Given the description of an element on the screen output the (x, y) to click on. 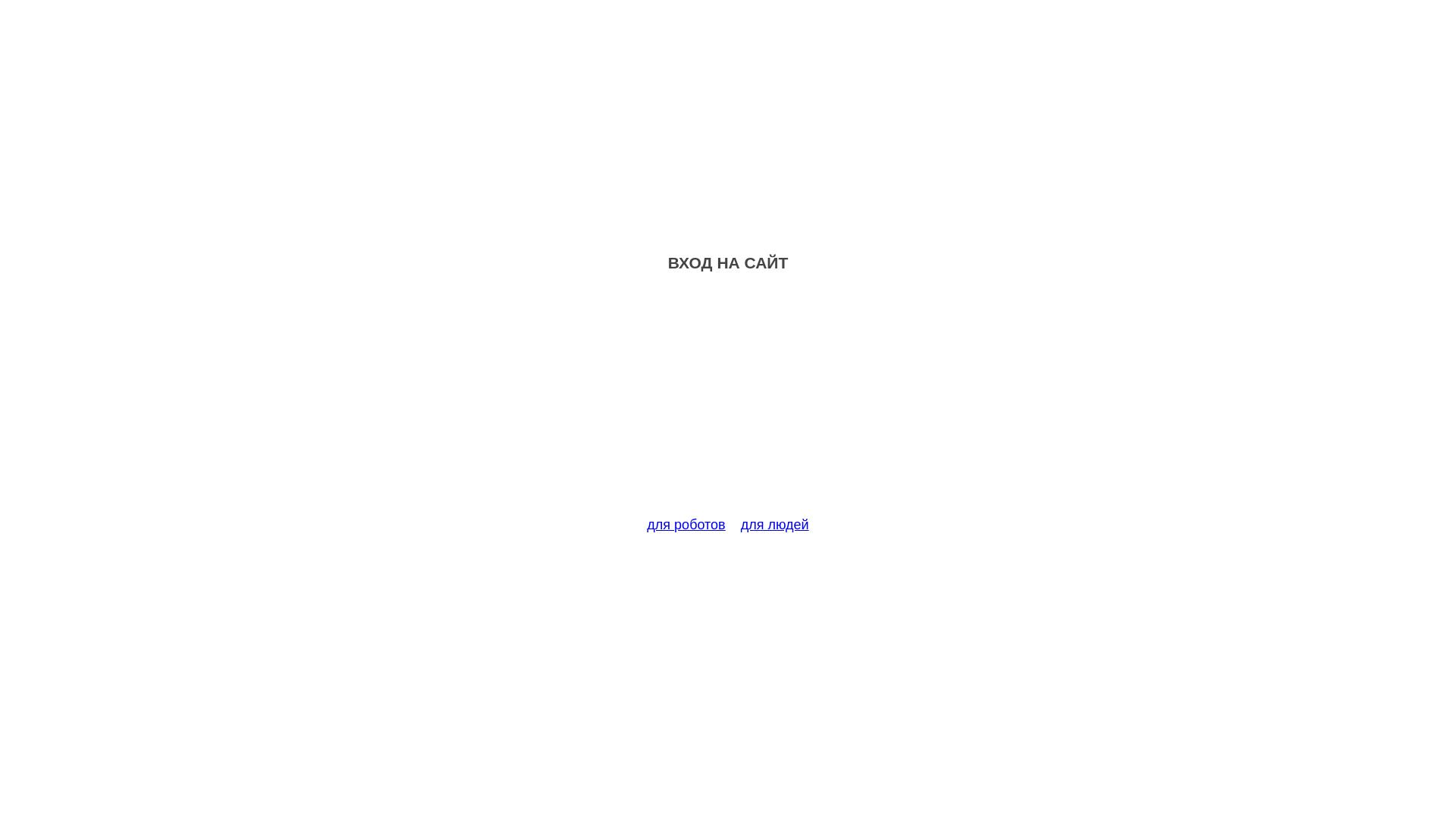
Advertisement Element type: hover (727, 403)
